Given the description of an element on the screen output the (x, y) to click on. 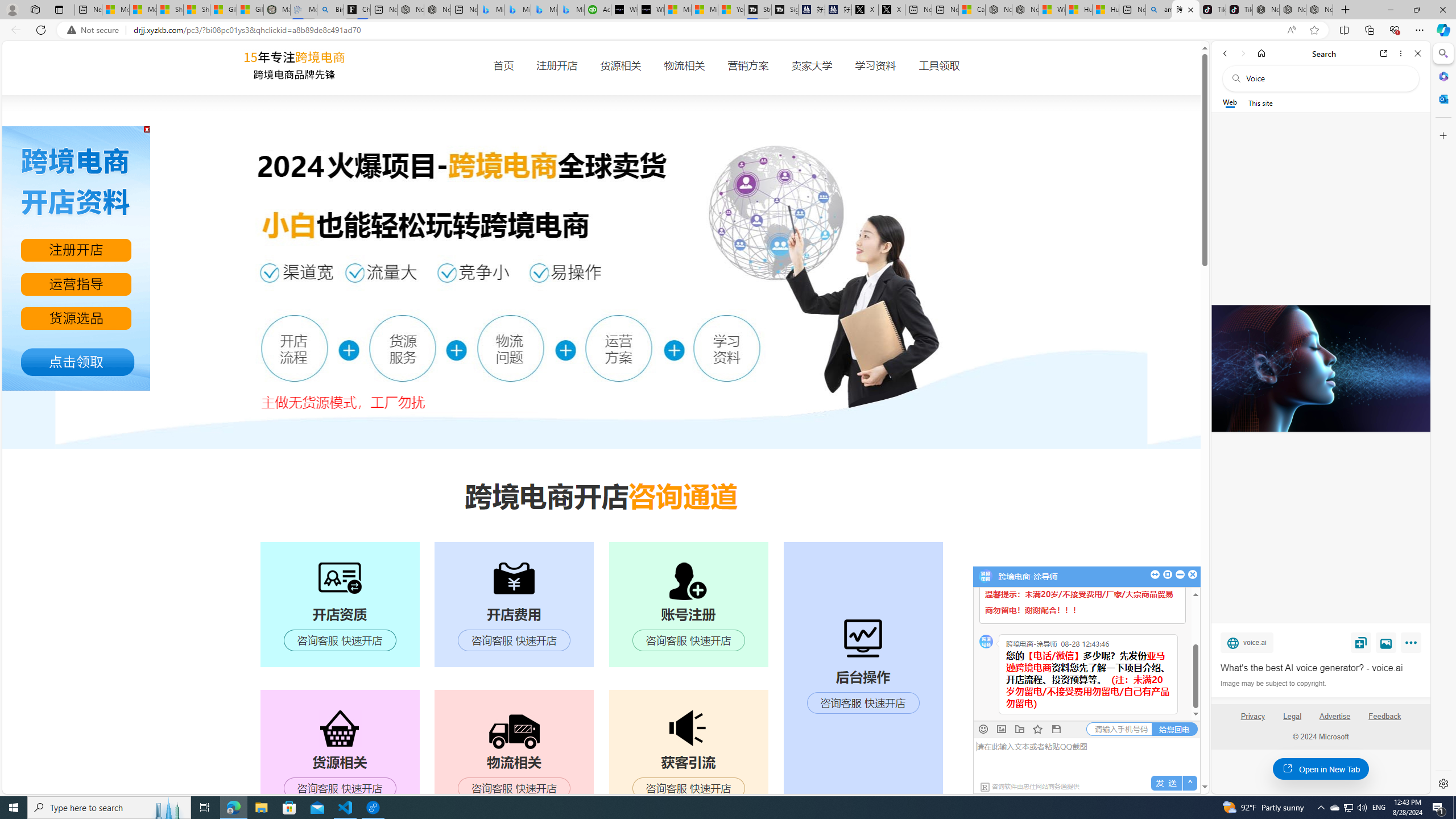
Outlook (1442, 98)
